Given the description of an element on the screen output the (x, y) to click on. 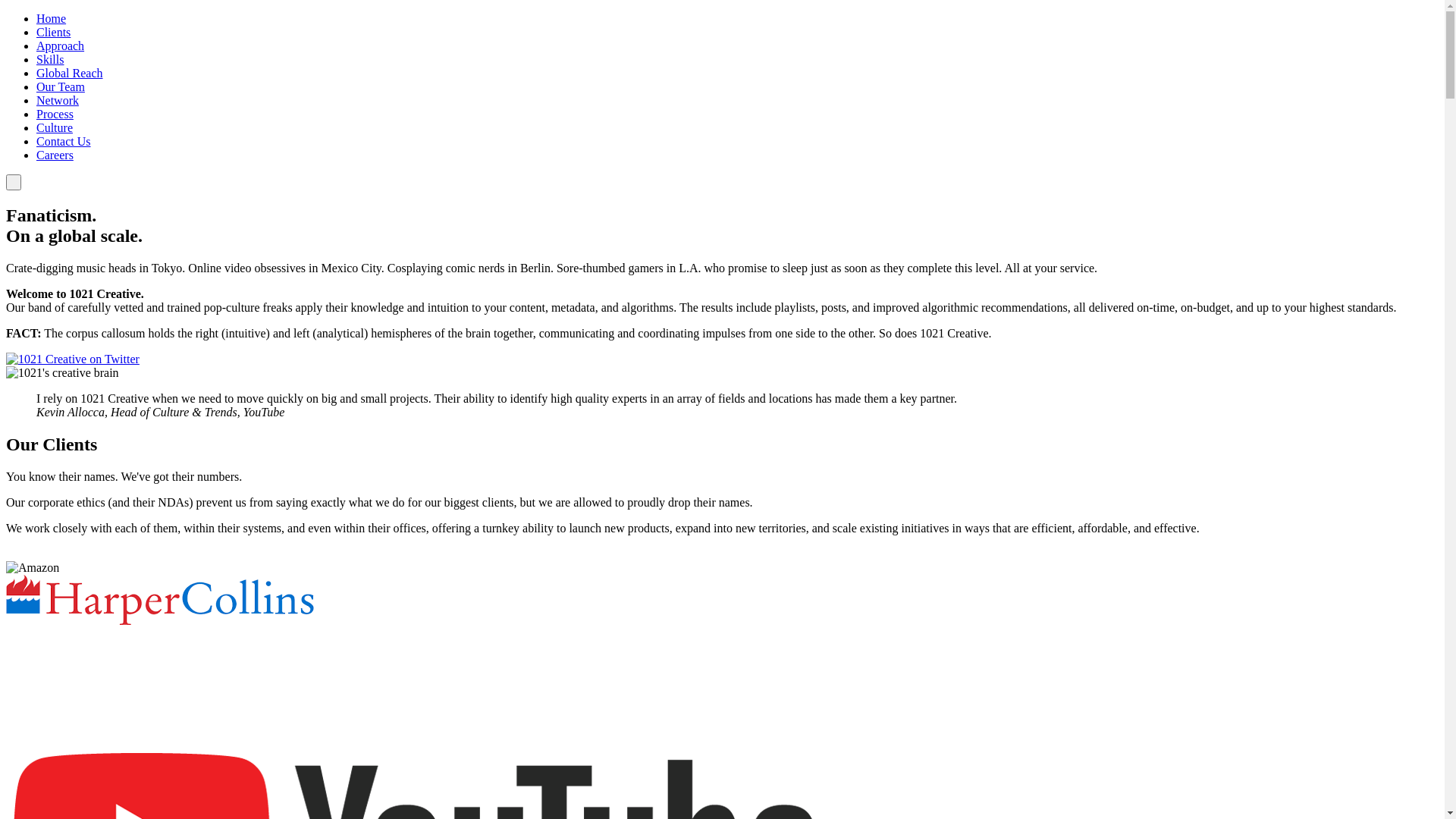
Contact Us Element type: text (63, 140)
Culture Element type: text (54, 127)
Skills Element type: text (49, 59)
Process Element type: text (54, 113)
Network Element type: text (57, 100)
Home Element type: text (50, 18)
Approach Element type: text (60, 45)
Our Team Element type: text (60, 86)
Clients Element type: text (53, 31)
  Element type: text (13, 182)
Careers Element type: text (54, 154)
Global Reach Element type: text (69, 72)
